Given the description of an element on the screen output the (x, y) to click on. 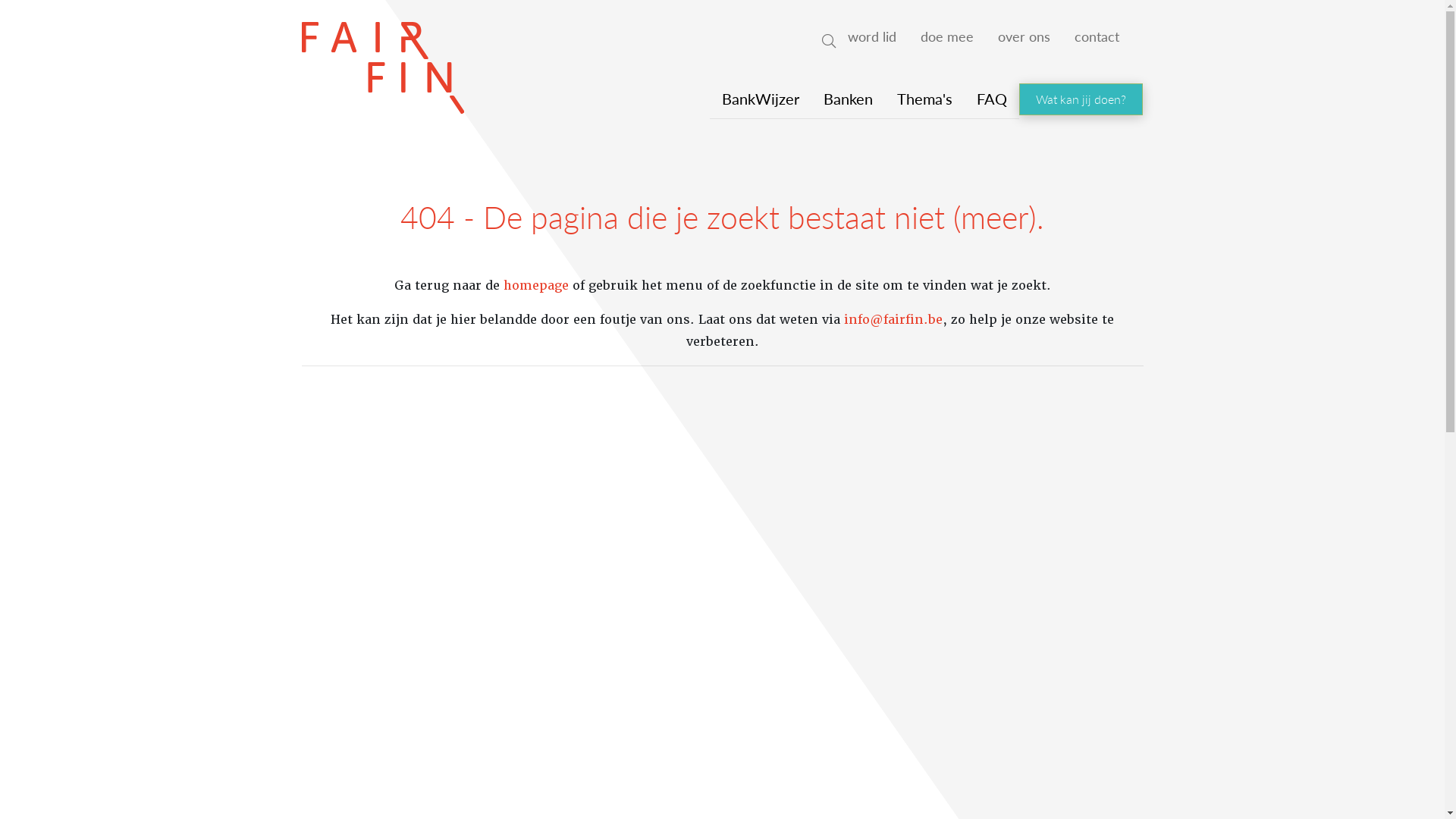
homepage Element type: text (535, 285)
Banken Element type: text (847, 98)
doe mee Element type: text (946, 36)
Thema's Element type: text (924, 98)
contact Element type: text (1095, 36)
FAQ Element type: text (991, 98)
info@fairfin.be Element type: text (893, 319)
BankWijzer Element type: text (760, 98)
over ons Element type: text (1023, 36)
Overslaan en naar de inhoud gaan Element type: text (721, 1)
word lid Element type: text (871, 36)
Wat kan jij doen? Element type: text (1080, 99)
